Given the description of an element on the screen output the (x, y) to click on. 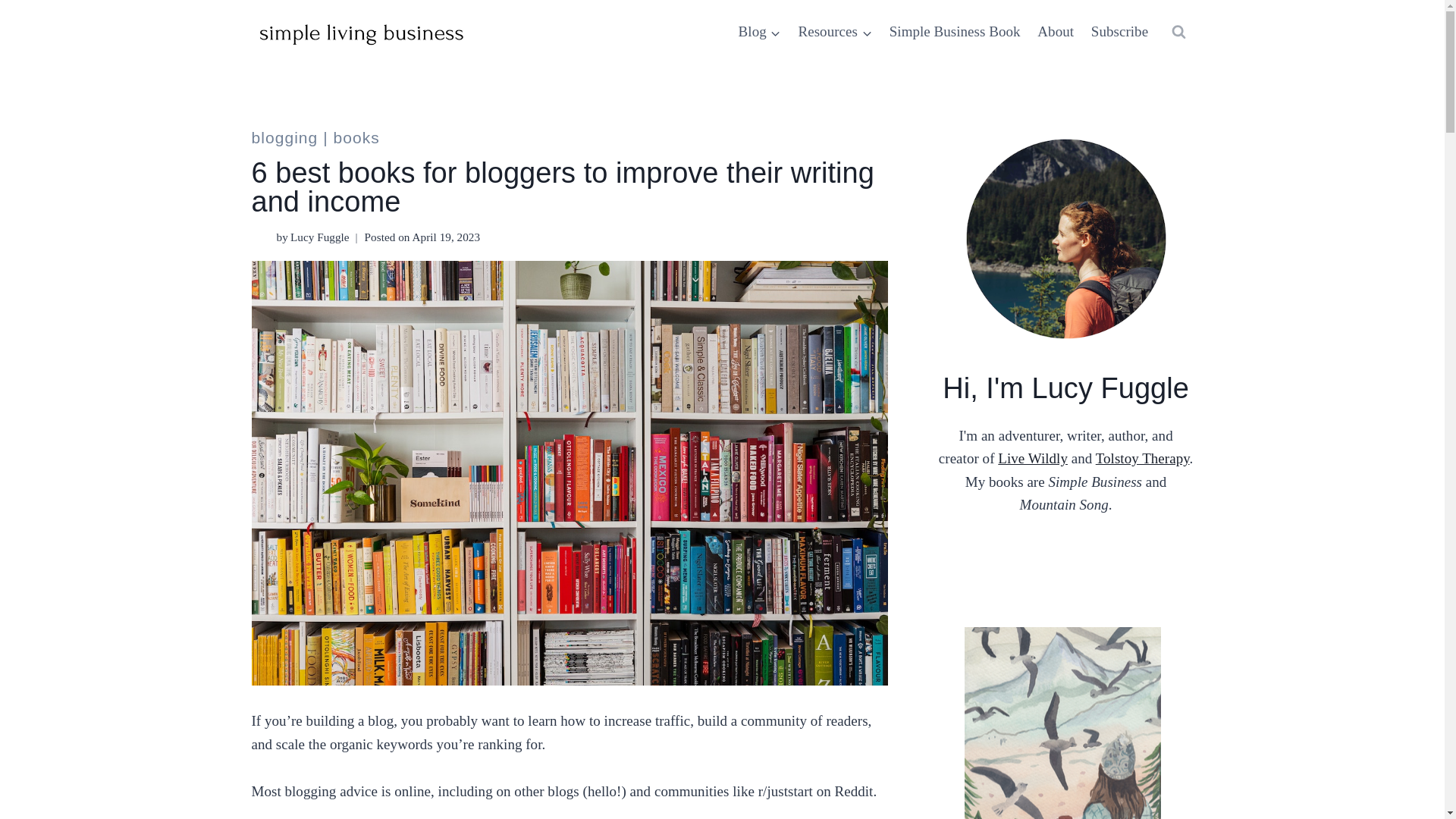
books (356, 137)
blogging (284, 137)
Lucy Fuggle (319, 236)
Subscribe (1118, 32)
Simple Business Book (954, 32)
Resources (834, 32)
About (1055, 32)
Blog (759, 32)
